Given the description of an element on the screen output the (x, y) to click on. 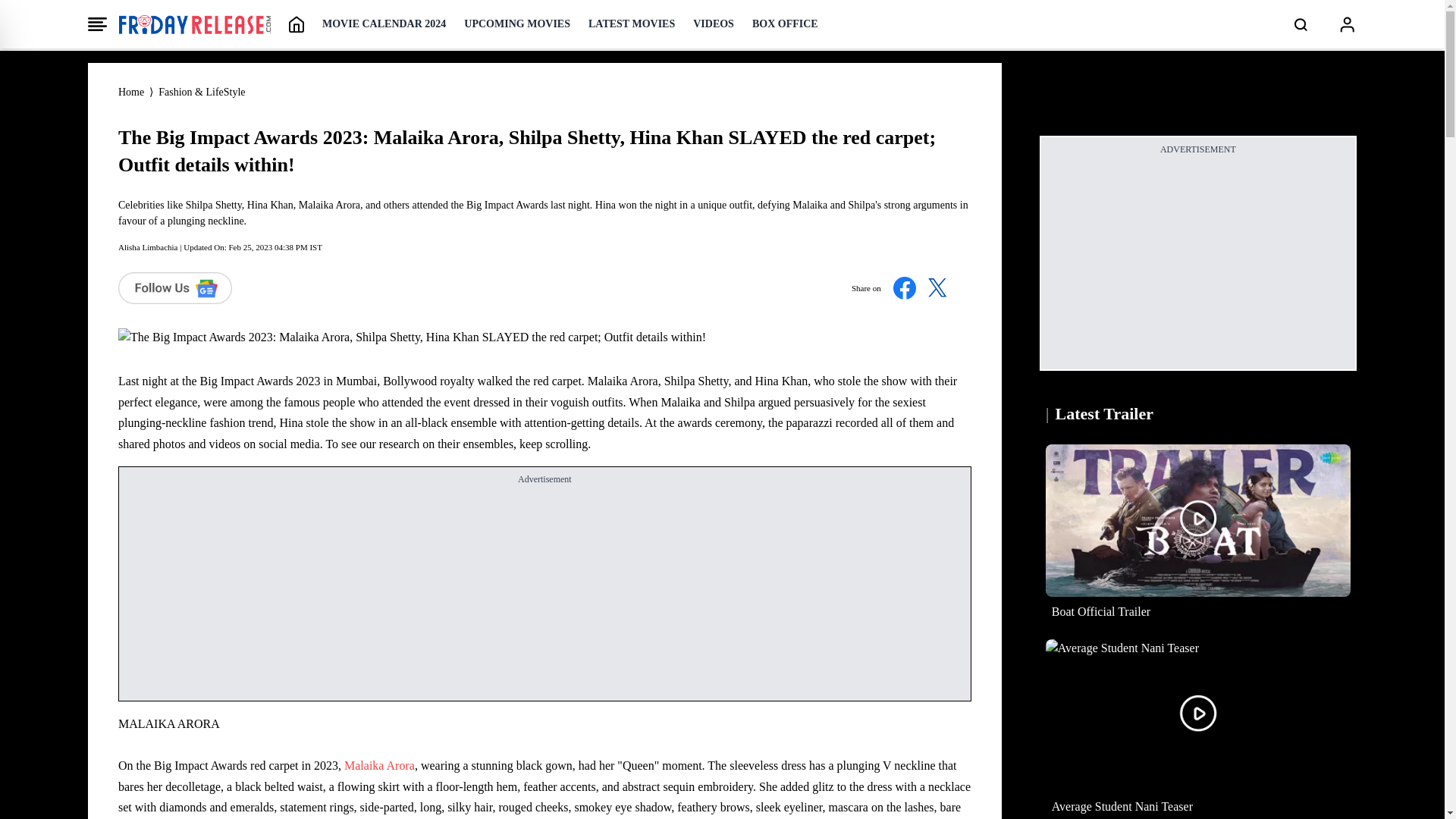
Share on (905, 287)
VIDEOS (713, 23)
BOX OFFICE (785, 23)
MOVIE CALENDAR 2024 (383, 23)
UPCOMING MOVIES (517, 23)
LATEST MOVIES (631, 23)
